Given the description of an element on the screen output the (x, y) to click on. 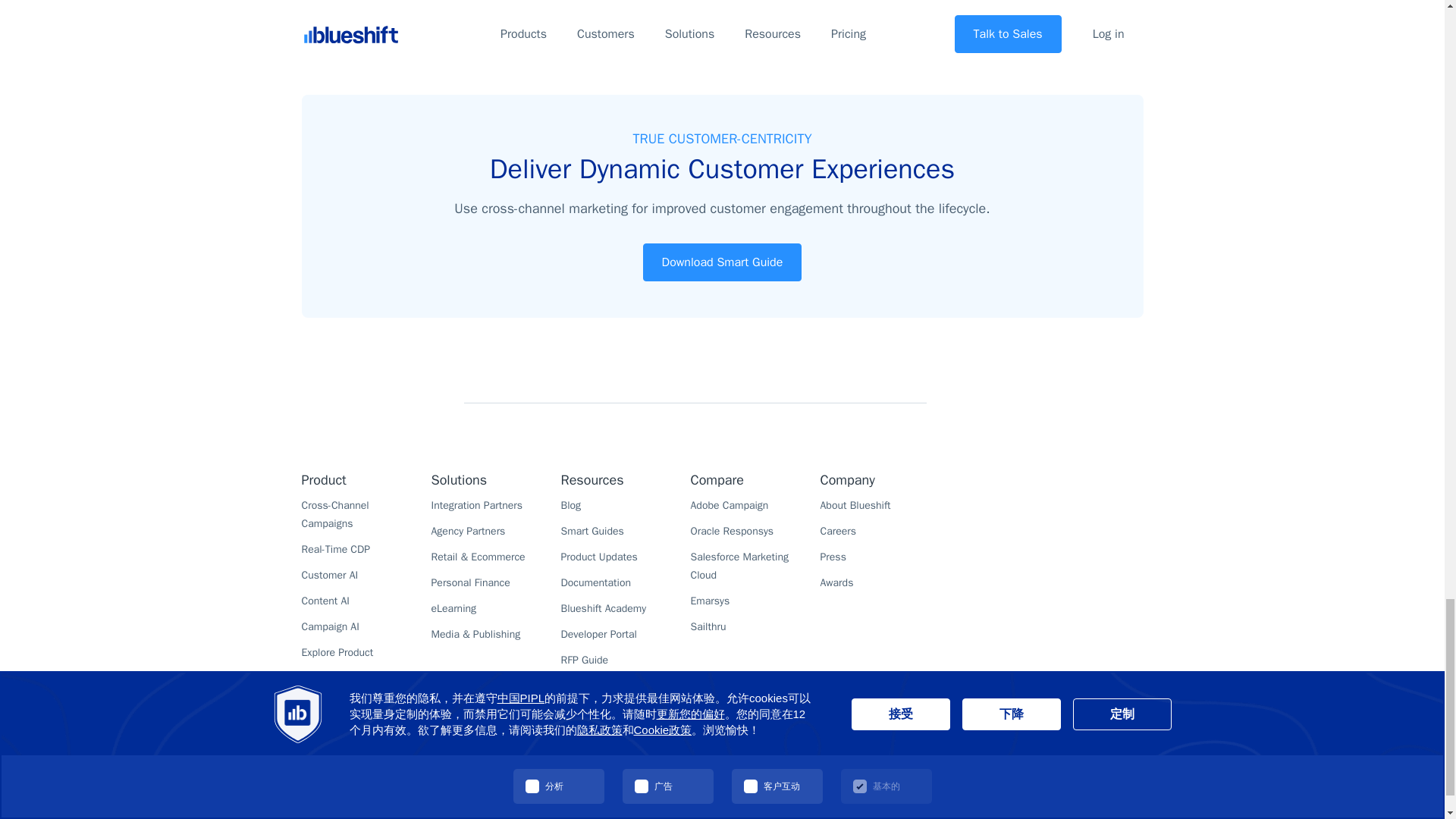
Privacy Policy (667, 818)
Terms of Use (736, 818)
Read reviews of Blueshift on G2 (1066, 508)
Anti-Spam Policy (810, 818)
Modern Slavery Statement (913, 818)
